Given the description of an element on the screen output the (x, y) to click on. 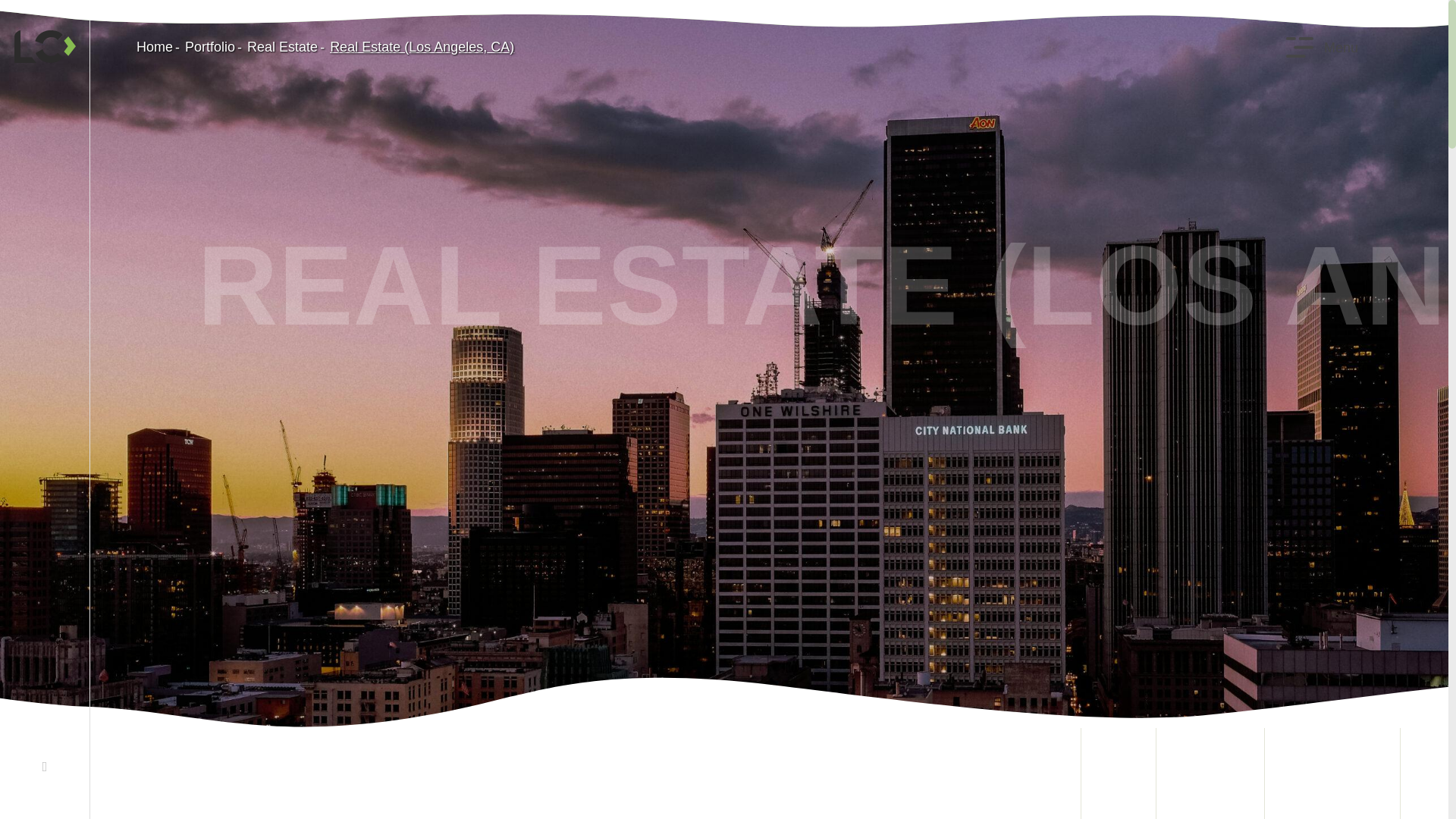
Home (154, 46)
Go to the Real Estate Category archives. (282, 46)
Portfolio (209, 46)
Real Estate (282, 46)
Go to Portfolio. (209, 46)
